Given the description of an element on the screen output the (x, y) to click on. 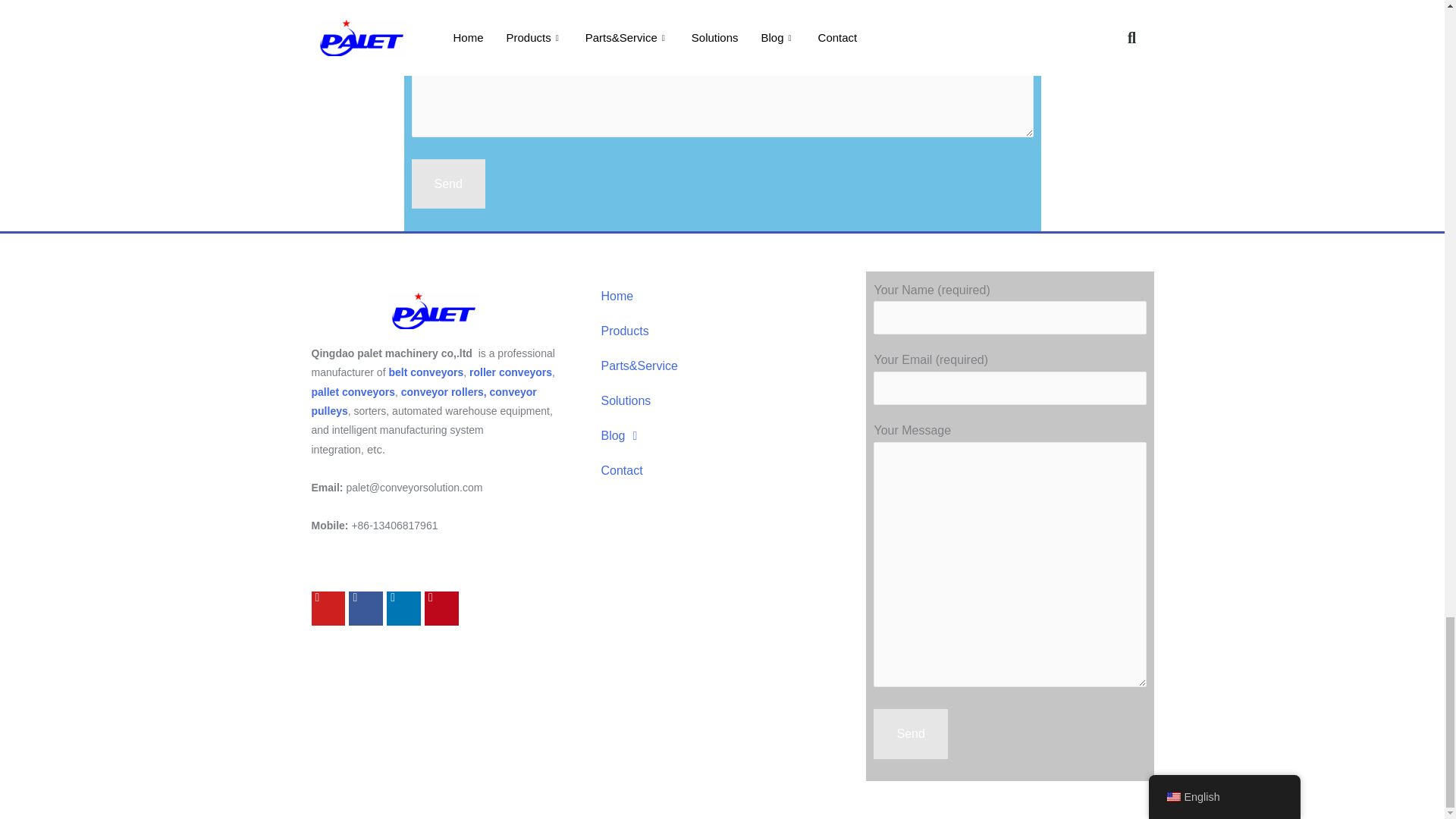
Send (447, 183)
Send (910, 734)
